Given the description of an element on the screen output the (x, y) to click on. 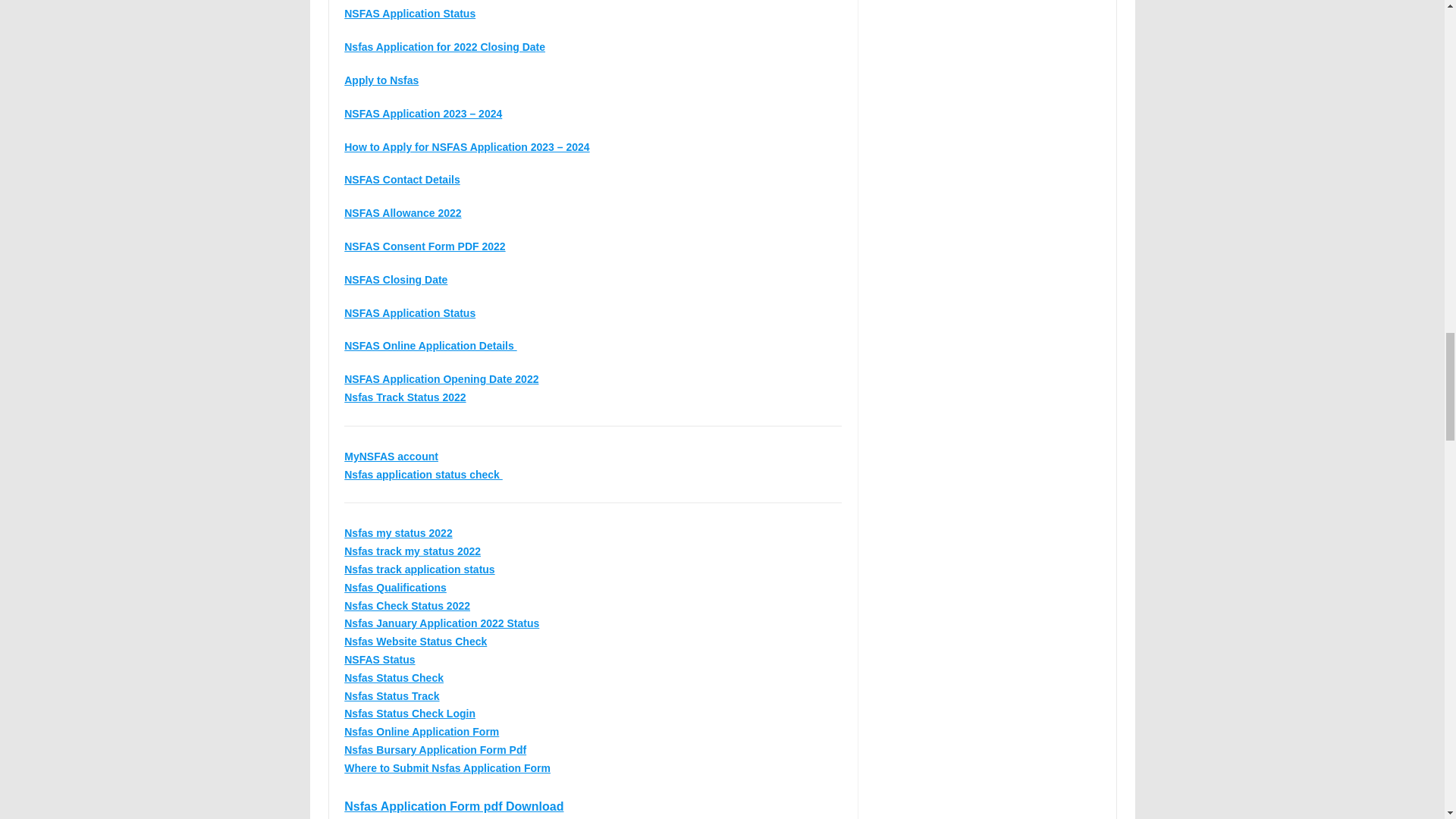
NSFAS Closing Date (394, 279)
Nsfas Application for 2022 Closing Date (443, 46)
NSFAS Online Application Details  (429, 345)
NSFAS Allowance 2022 (402, 213)
NSFAS Application Opening Date 2022 (440, 378)
NSFAS Consent Form PDF 2022 (424, 246)
NSFAS Application Status (409, 313)
Apply to Nsfas (381, 80)
NSFAS Application Status (409, 13)
NSFAS Contact Details (401, 179)
